Given the description of an element on the screen output the (x, y) to click on. 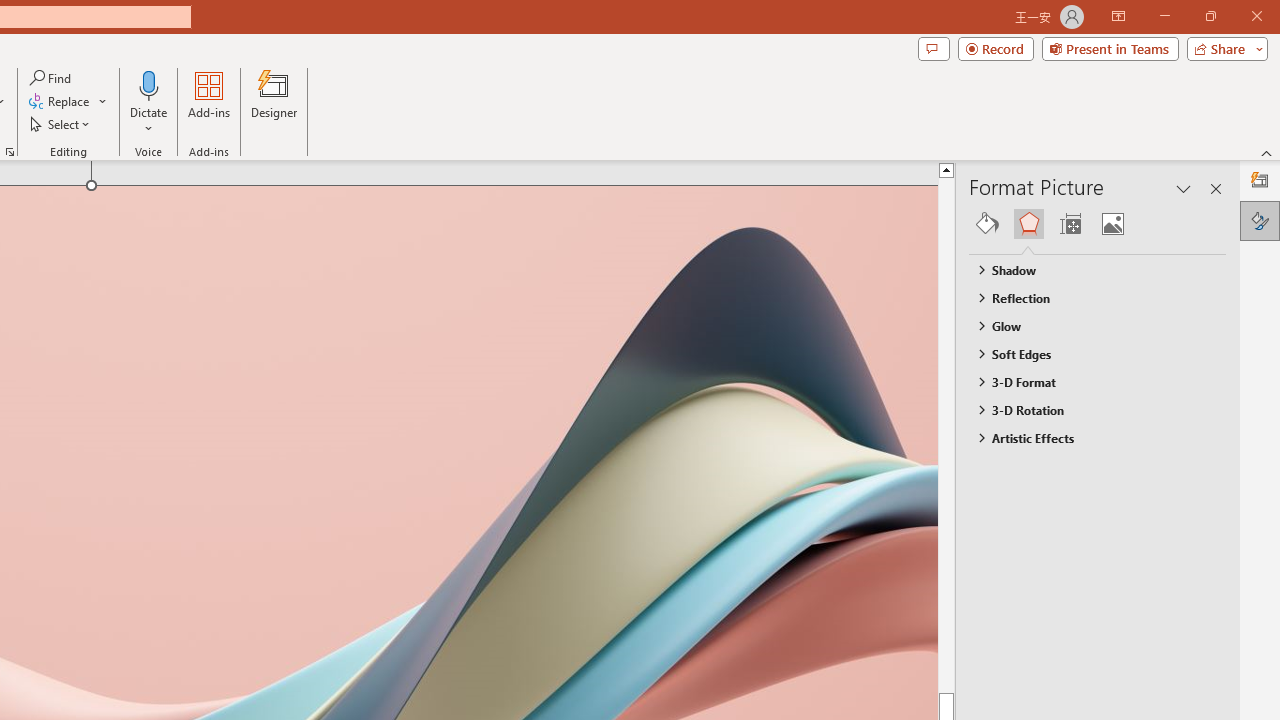
Format Picture (1260, 220)
Size & Properties (1070, 223)
Reflection (1088, 297)
Soft Edges (1088, 353)
